Given the description of an element on the screen output the (x, y) to click on. 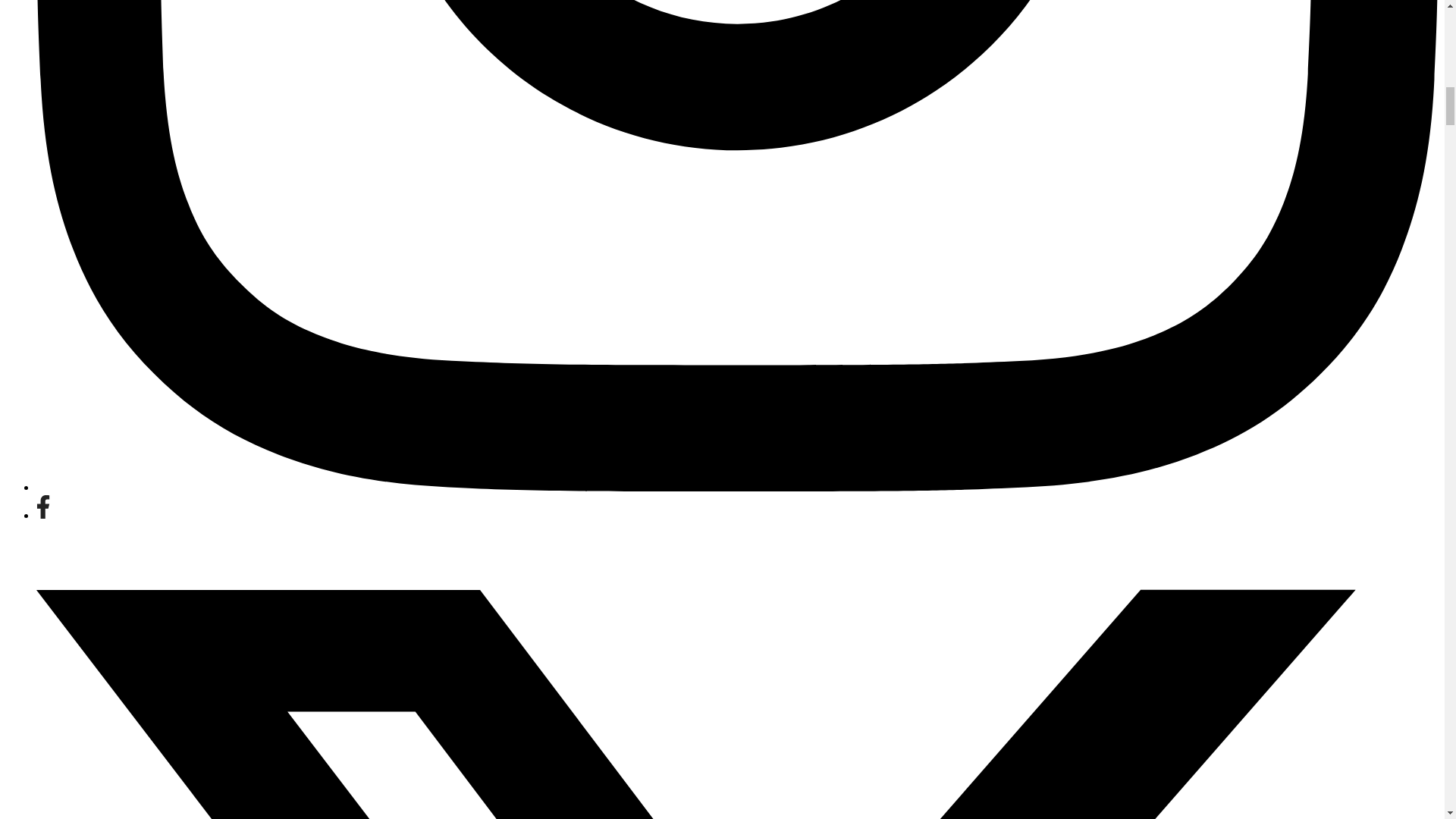
FaceBook (42, 514)
